Given the description of an element on the screen output the (x, y) to click on. 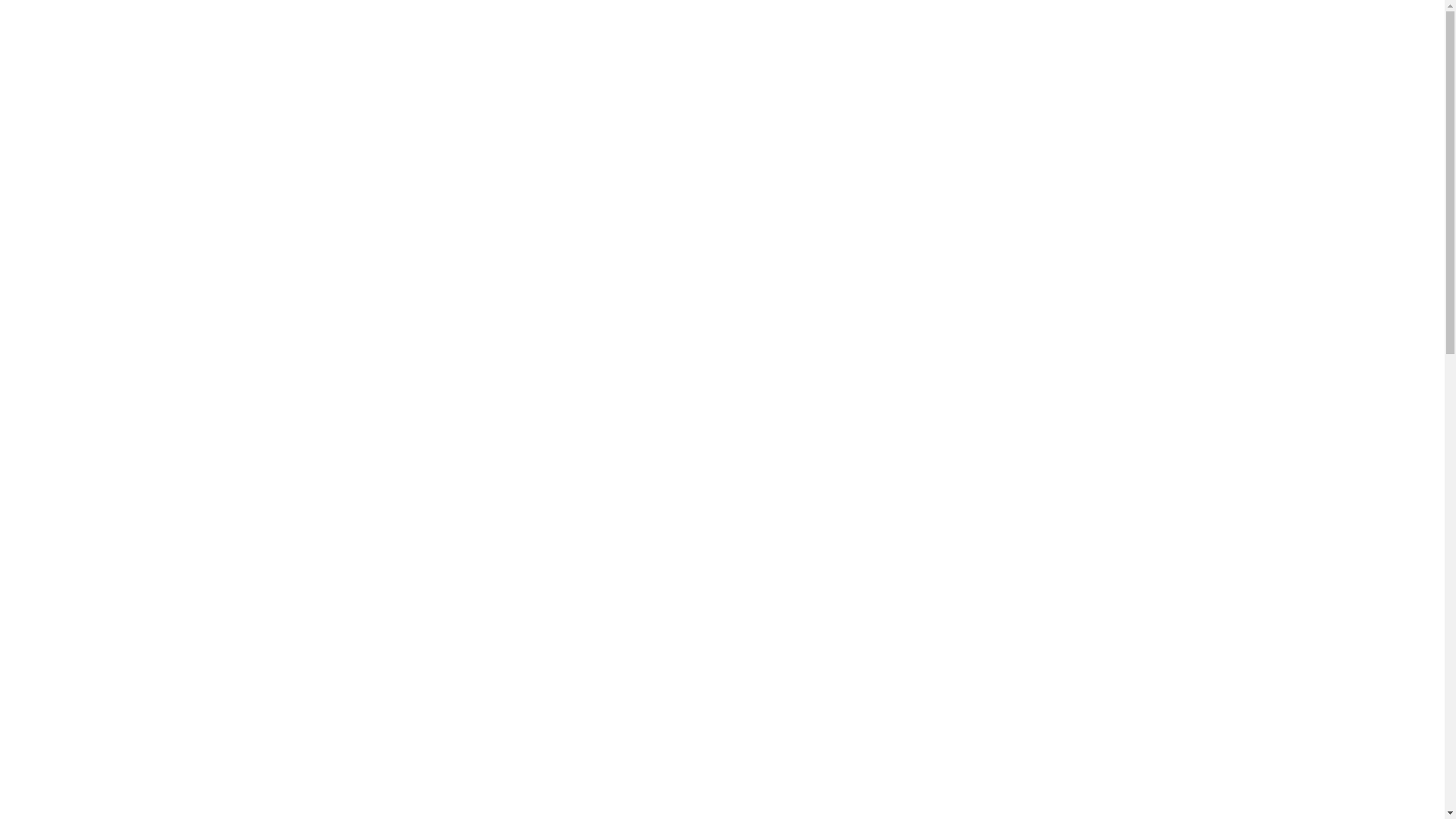
RYOJI YAMAUCHI Element type: text (87, 748)
EN Element type: text (722, 110)
JP Element type: text (722, 127)
